Given the description of an element on the screen output the (x, y) to click on. 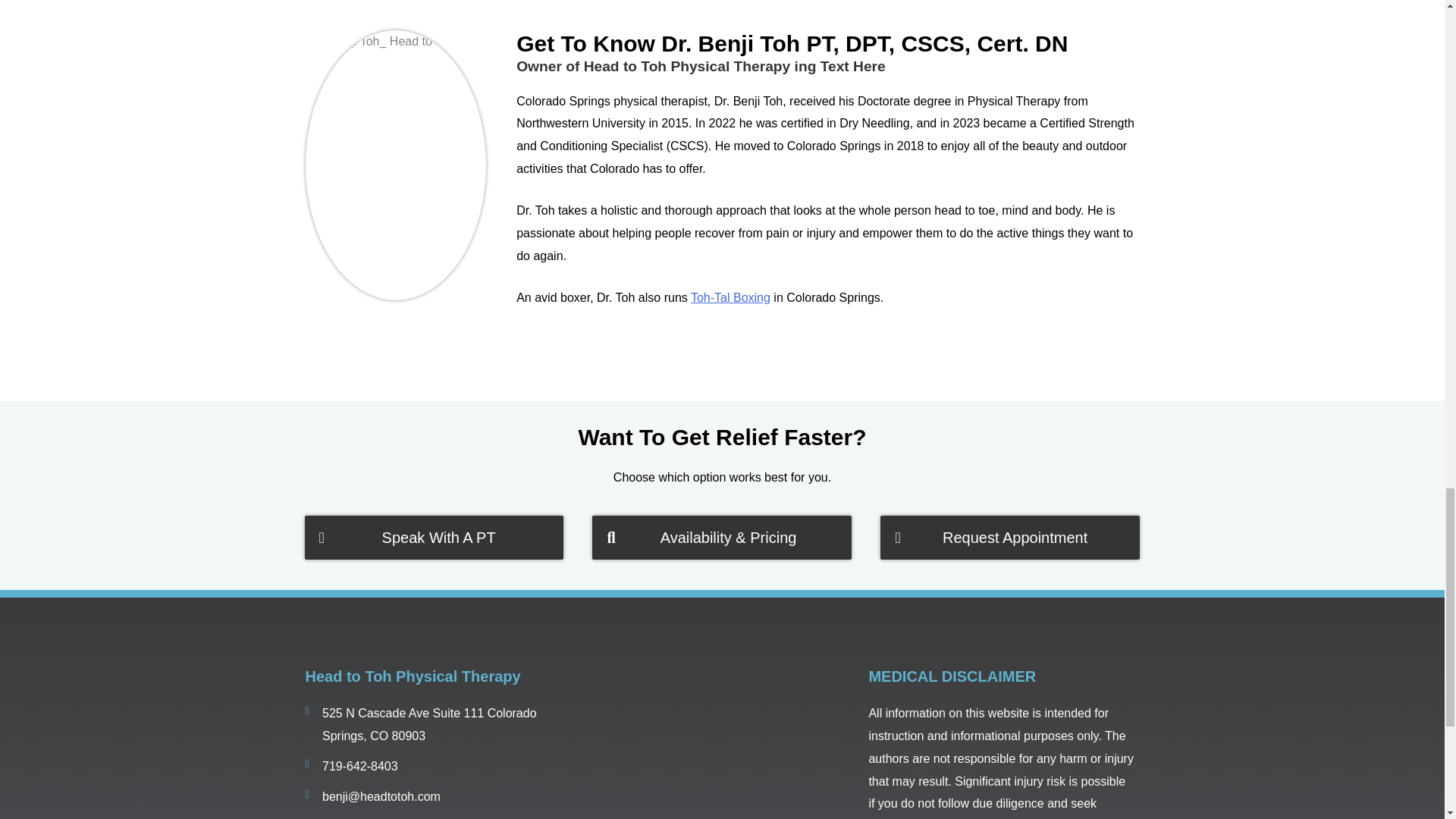
Head to Toh Physical Therapy (719, 742)
